Given the description of an element on the screen output the (x, y) to click on. 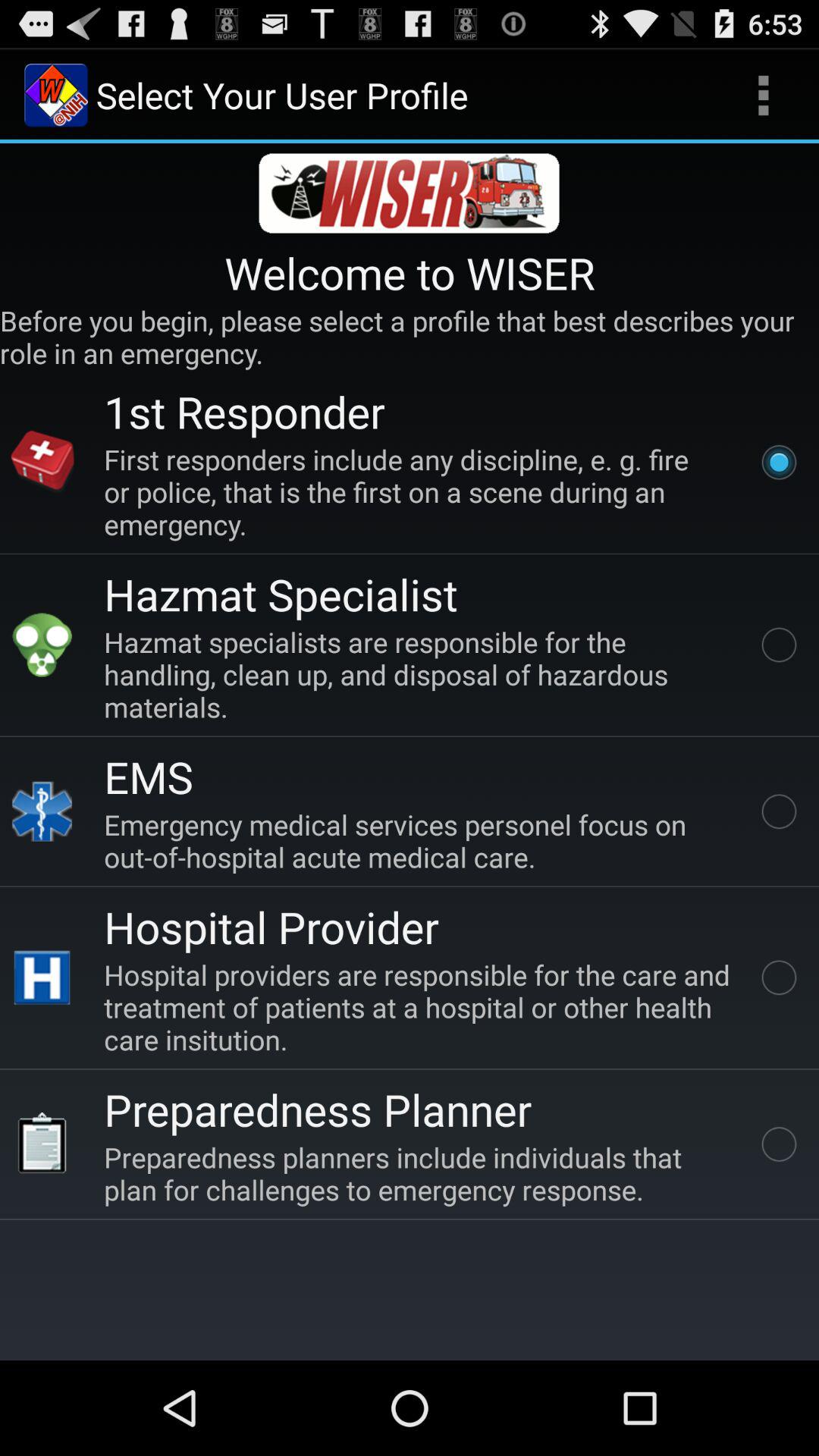
select emergency medical services icon (420, 840)
